Given the description of an element on the screen output the (x, y) to click on. 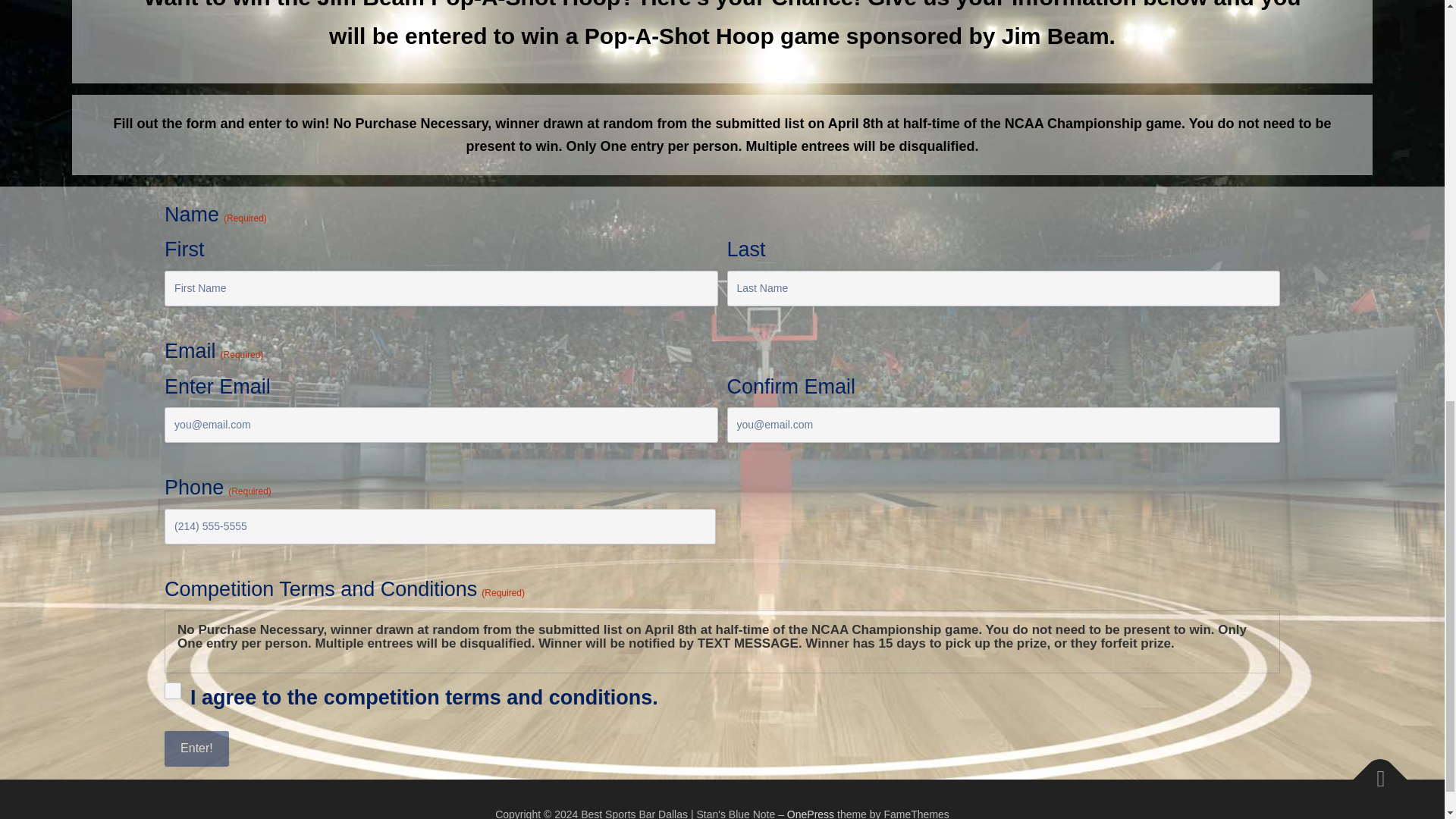
Enter! (196, 748)
1 (172, 690)
OnePress (810, 813)
Enter! (196, 748)
Back To Top (1372, 771)
